Given the description of an element on the screen output the (x, y) to click on. 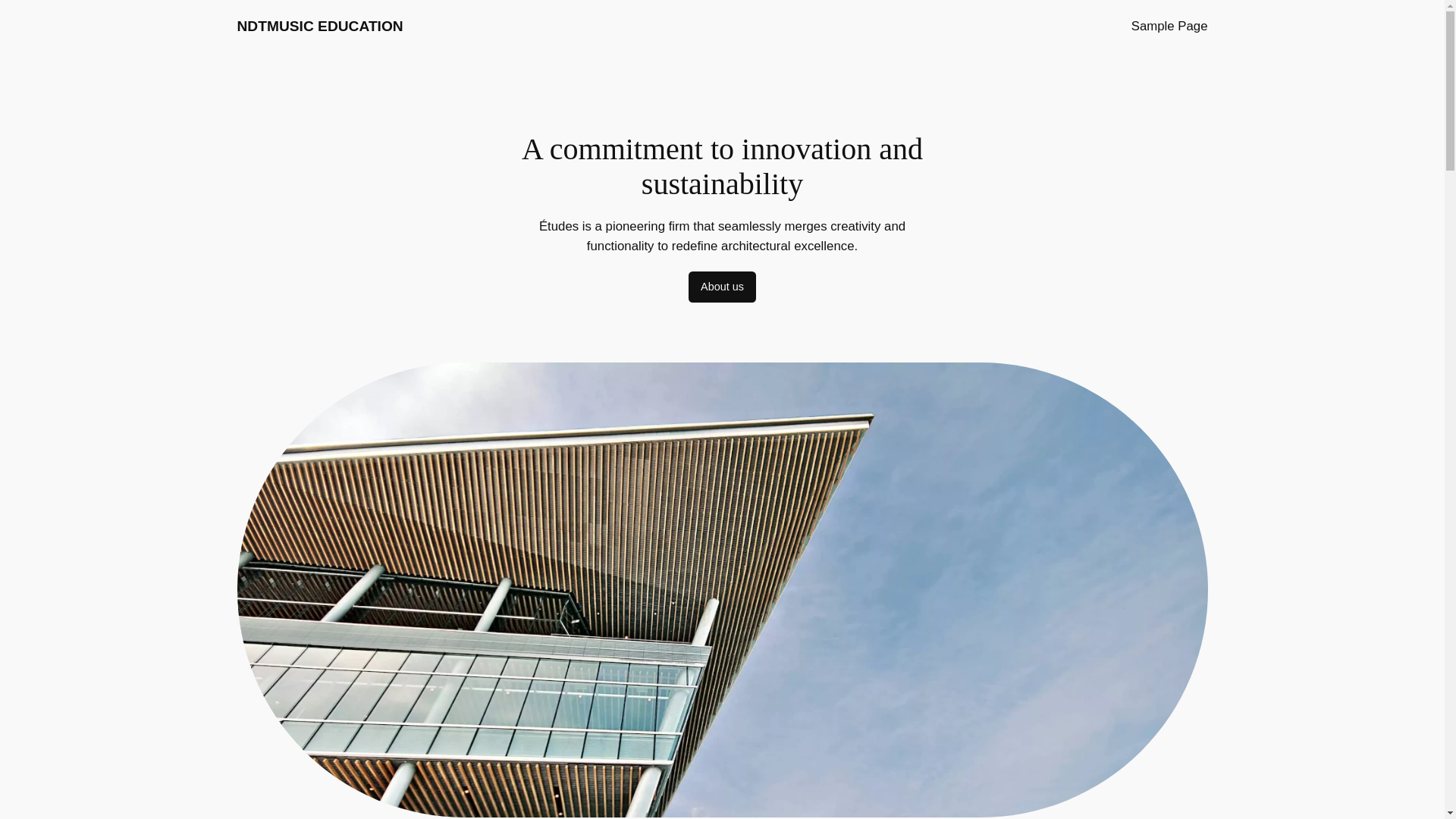
About us (721, 287)
NDTMUSIC EDUCATION (319, 26)
Sample Page (1169, 26)
